Given the description of an element on the screen output the (x, y) to click on. 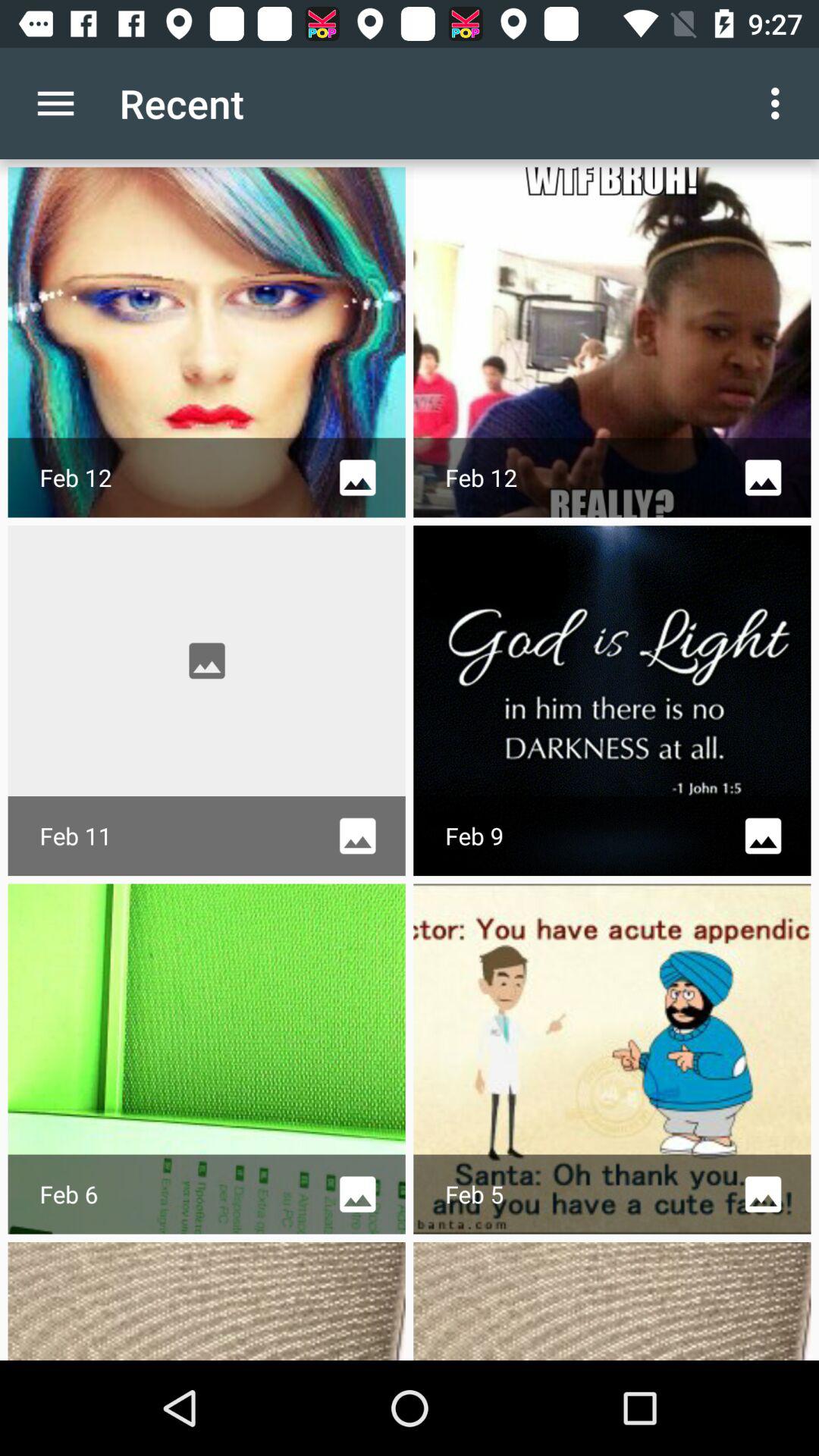
click app next to recent item (779, 103)
